Given the description of an element on the screen output the (x, y) to click on. 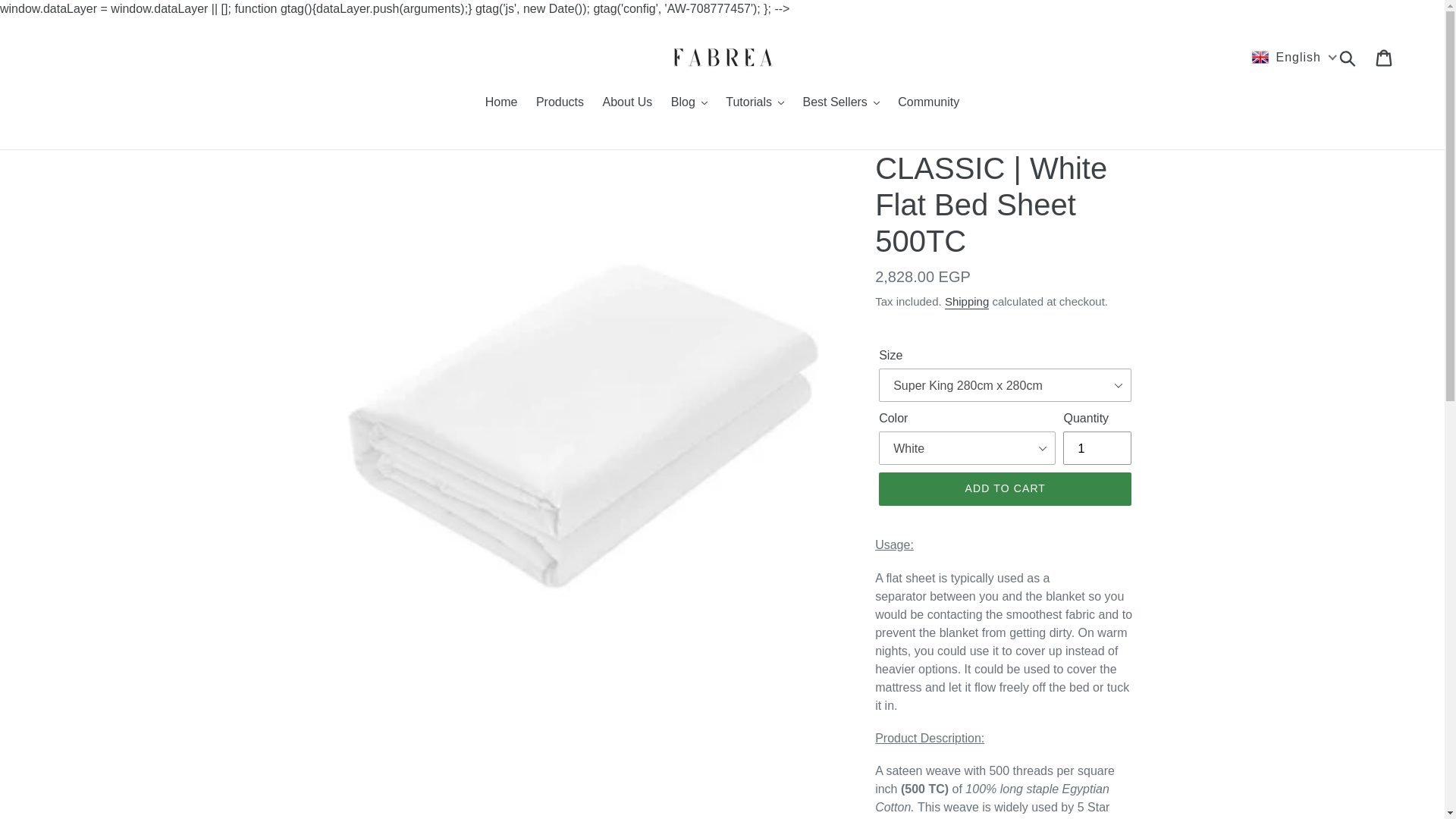
Products (559, 103)
About Us (628, 103)
Cart (1385, 57)
Home (501, 103)
1 (1096, 448)
Submit (1348, 57)
